Given the description of an element on the screen output the (x, y) to click on. 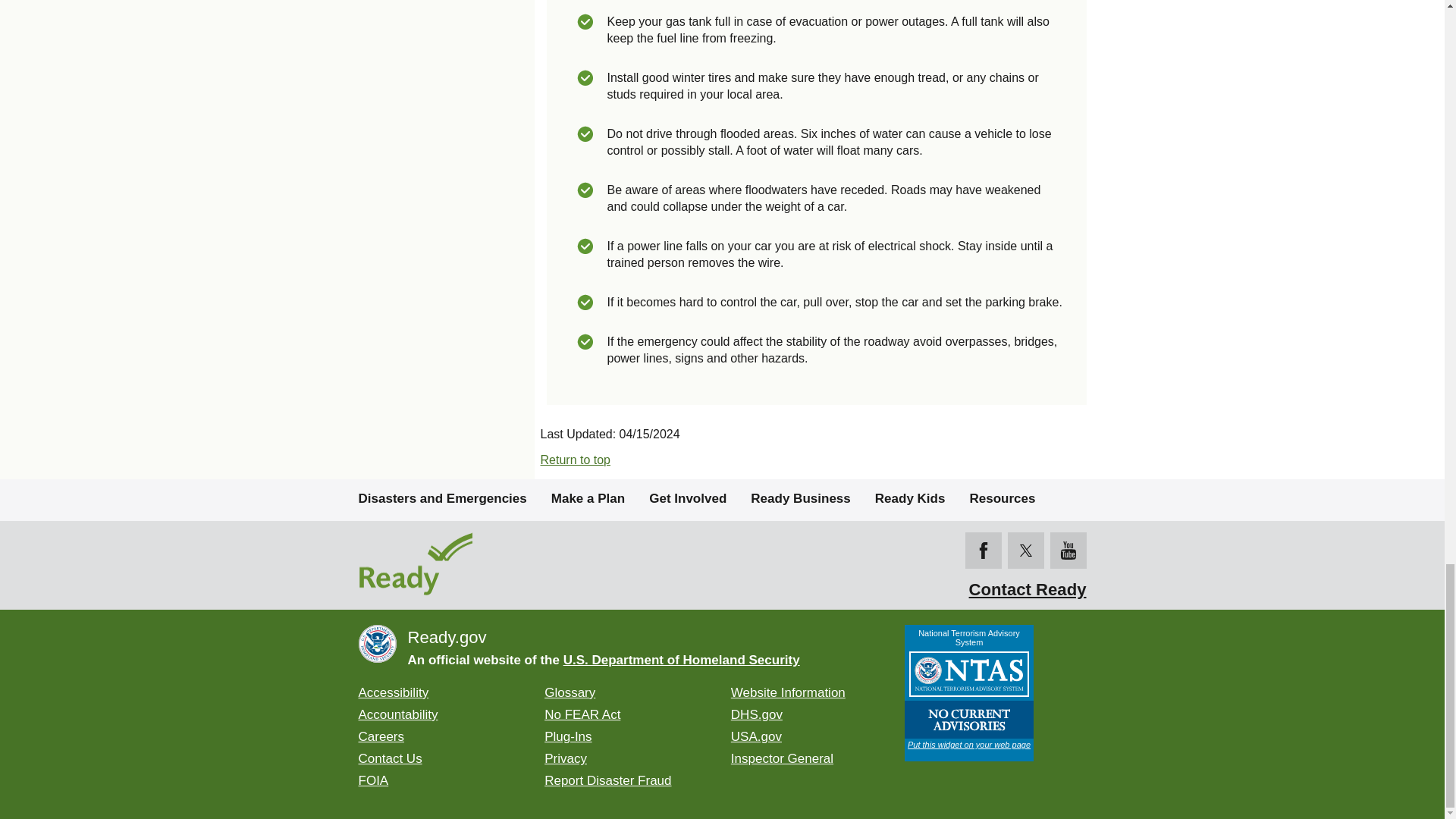
READY logo (471, 564)
National Terrorism Advisory System (968, 692)
Ready Kids (909, 498)
Get Involved (687, 498)
